Given the description of an element on the screen output the (x, y) to click on. 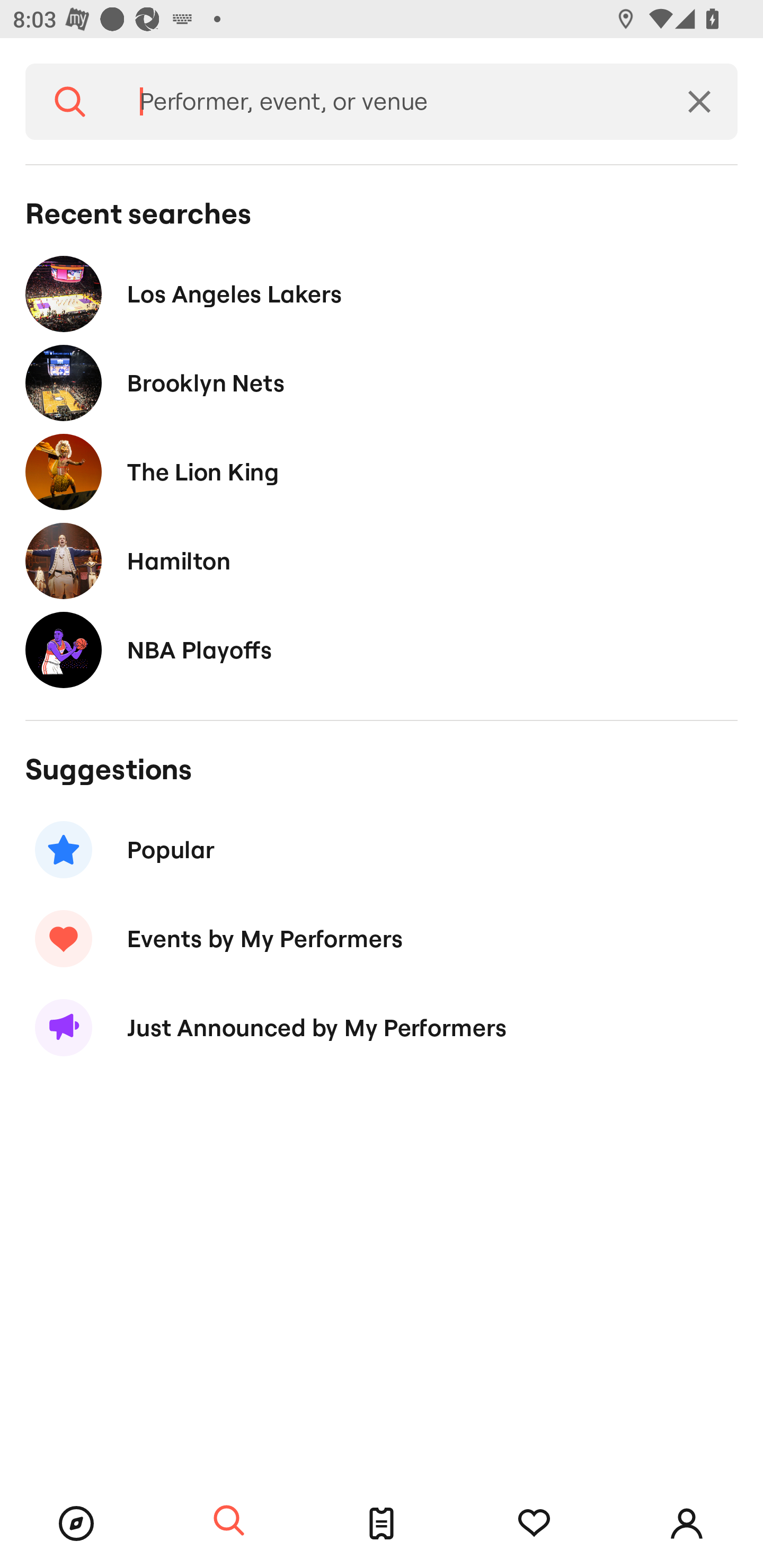
Search (69, 101)
Performer, event, or venue (387, 101)
Clear (699, 101)
Los Angeles Lakers (381, 293)
Brooklyn Nets (381, 383)
The Lion King (381, 471)
Hamilton (381, 560)
NBA Playoffs (381, 649)
Popular (381, 849)
Events by My Performers (381, 938)
Just Announced by My Performers (381, 1027)
Browse (76, 1523)
Search (228, 1521)
Tickets (381, 1523)
Tracking (533, 1523)
Account (686, 1523)
